Given the description of an element on the screen output the (x, y) to click on. 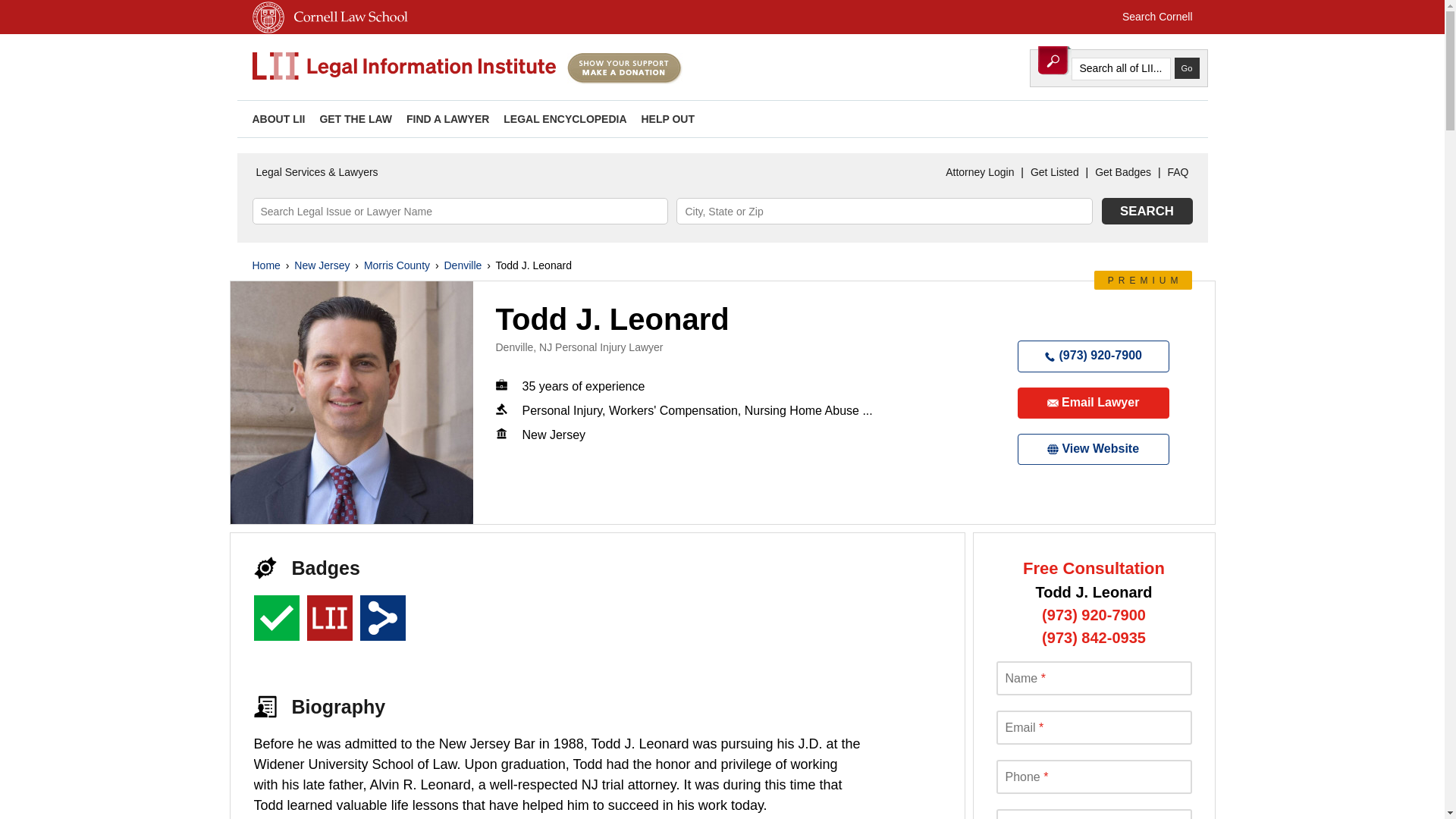
SEARCH (1146, 211)
Cornell University (267, 29)
Email Lawyer (1093, 402)
Name (1093, 677)
Cornell Law School (346, 29)
FAQ (1177, 172)
Attorney Login (979, 172)
Search Cornell (1157, 16)
Go (1185, 67)
HELP OUT (667, 119)
